Given the description of an element on the screen output the (x, y) to click on. 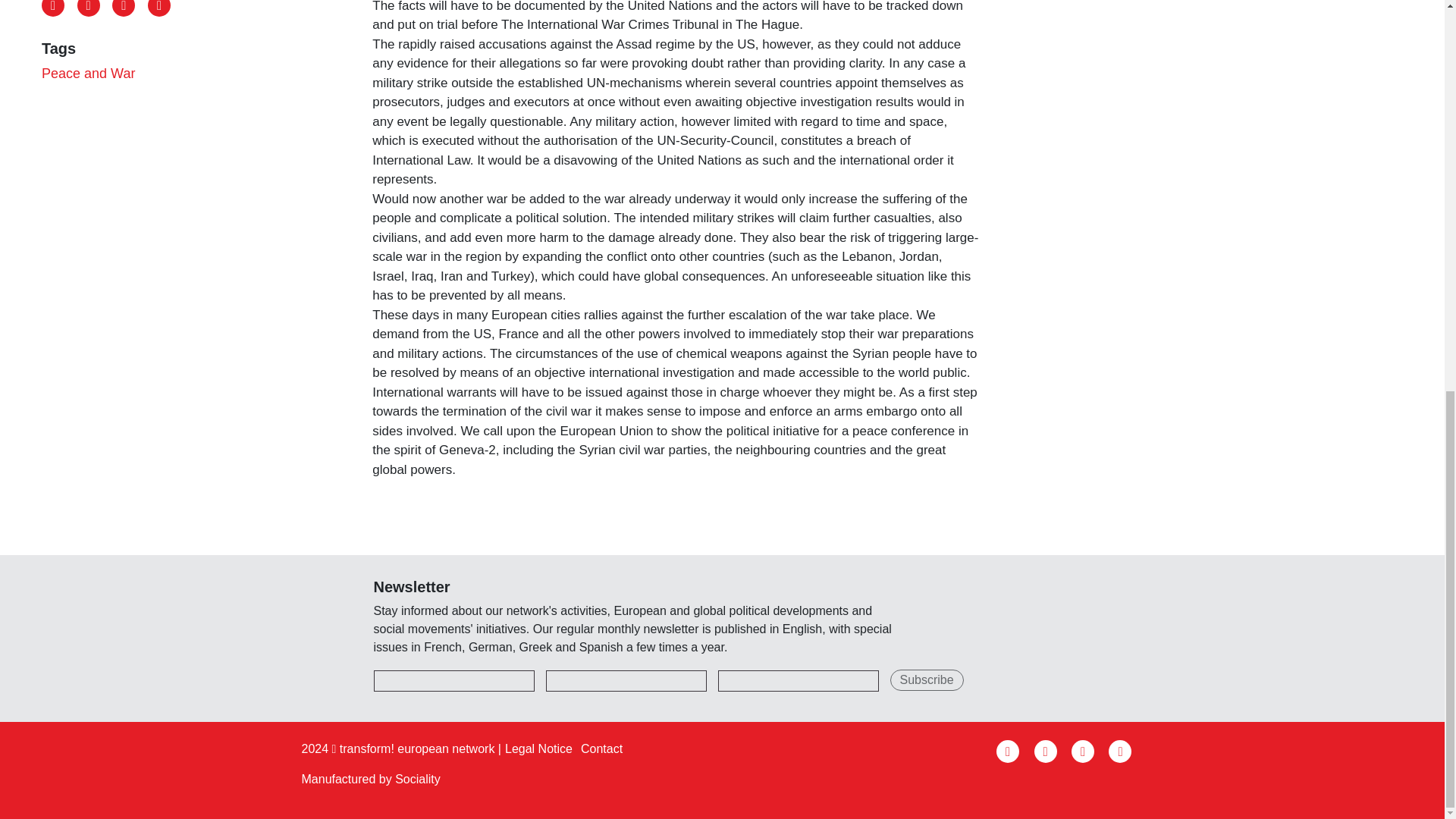
Share on Telegram (123, 8)
Subscribe (926, 680)
Send by email (159, 8)
Share on Facebook (53, 8)
Share on Twitter (88, 8)
